Given the description of an element on the screen output the (x, y) to click on. 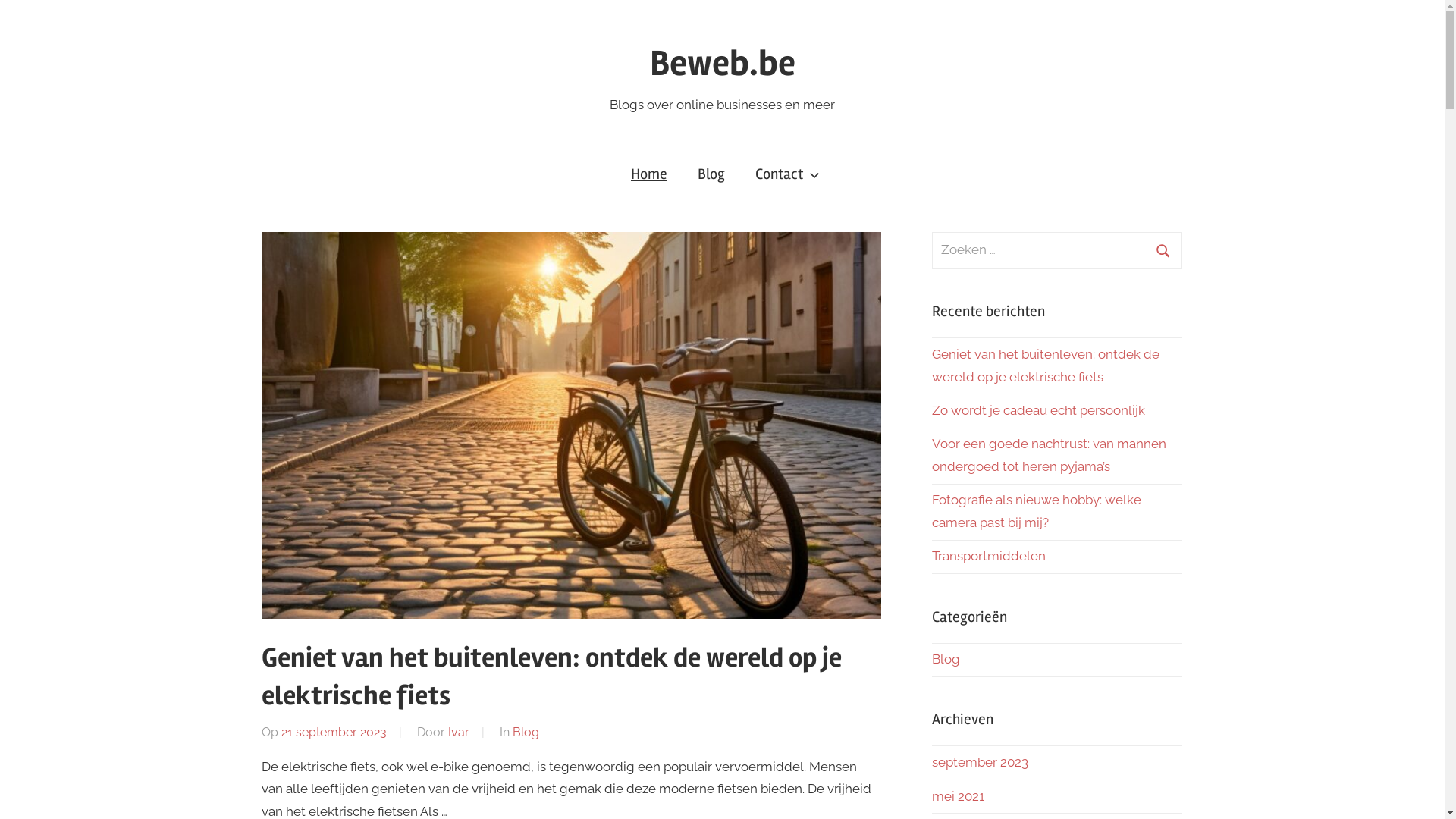
Zo wordt je cadeau echt persoonlijk Element type: text (1037, 409)
Contact Element type: text (784, 173)
Blog Element type: text (525, 731)
Ivar Element type: text (458, 731)
Blog Element type: text (711, 173)
Beweb.be Element type: text (721, 62)
september 2023 Element type: text (979, 761)
Blog Element type: text (945, 658)
Zoeken Element type: text (1162, 250)
Fotografie als nieuwe hobby: welke camera past bij mij? Element type: text (1035, 511)
Home Element type: text (648, 173)
Transportmiddelen Element type: text (987, 555)
Zoeken naar: Element type: hover (1056, 250)
21 september 2023 Element type: text (333, 731)
mei 2021 Element type: text (957, 795)
